Given the description of an element on the screen output the (x, y) to click on. 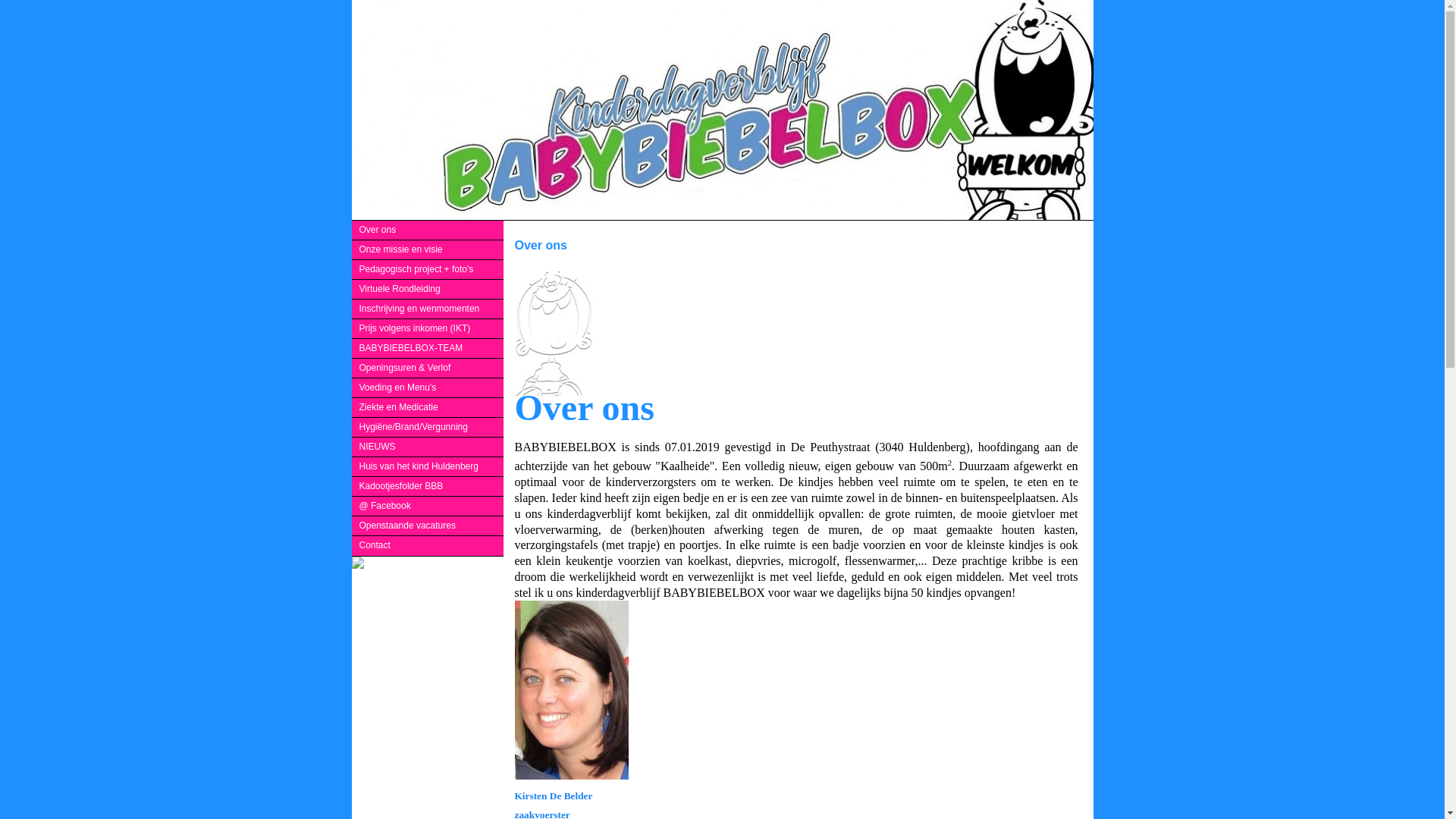
Onze missie en visie Element type: text (427, 249)
BABYBIEBELBOX-TEAM Element type: text (427, 347)
Contact Element type: text (427, 545)
Inschrijving en wenmomenten Element type: text (427, 308)
Openstaande vacatures Element type: text (427, 525)
Prijs volgens inkomen (IKT) Element type: text (427, 328)
Over ons Element type: text (427, 229)
NIEUWS Element type: text (427, 446)
Virtuele Rondleiding Element type: text (427, 288)
Openingsuren & Verlof Element type: text (427, 367)
Ziekte en Medicatie Element type: text (427, 407)
@ Facebook Element type: text (427, 505)
Pedagogisch project + foto's Element type: text (427, 269)
Huis van het kind Huldenberg Element type: text (427, 466)
Kadootjesfolder BBB Element type: text (427, 485)
Voeding en Menu's Element type: text (427, 387)
